Given the description of an element on the screen output the (x, y) to click on. 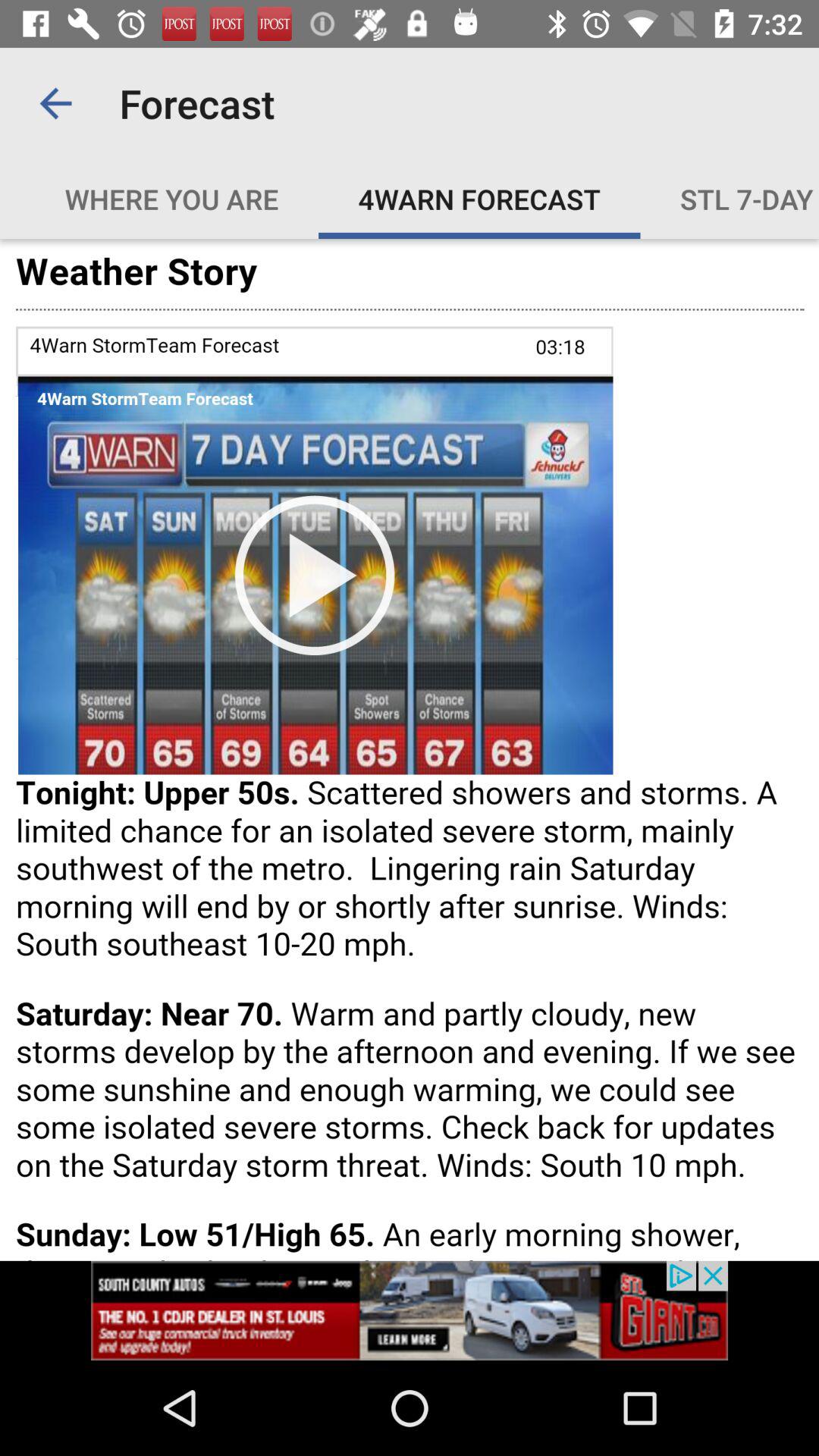
play the video (409, 749)
